Given the description of an element on the screen output the (x, y) to click on. 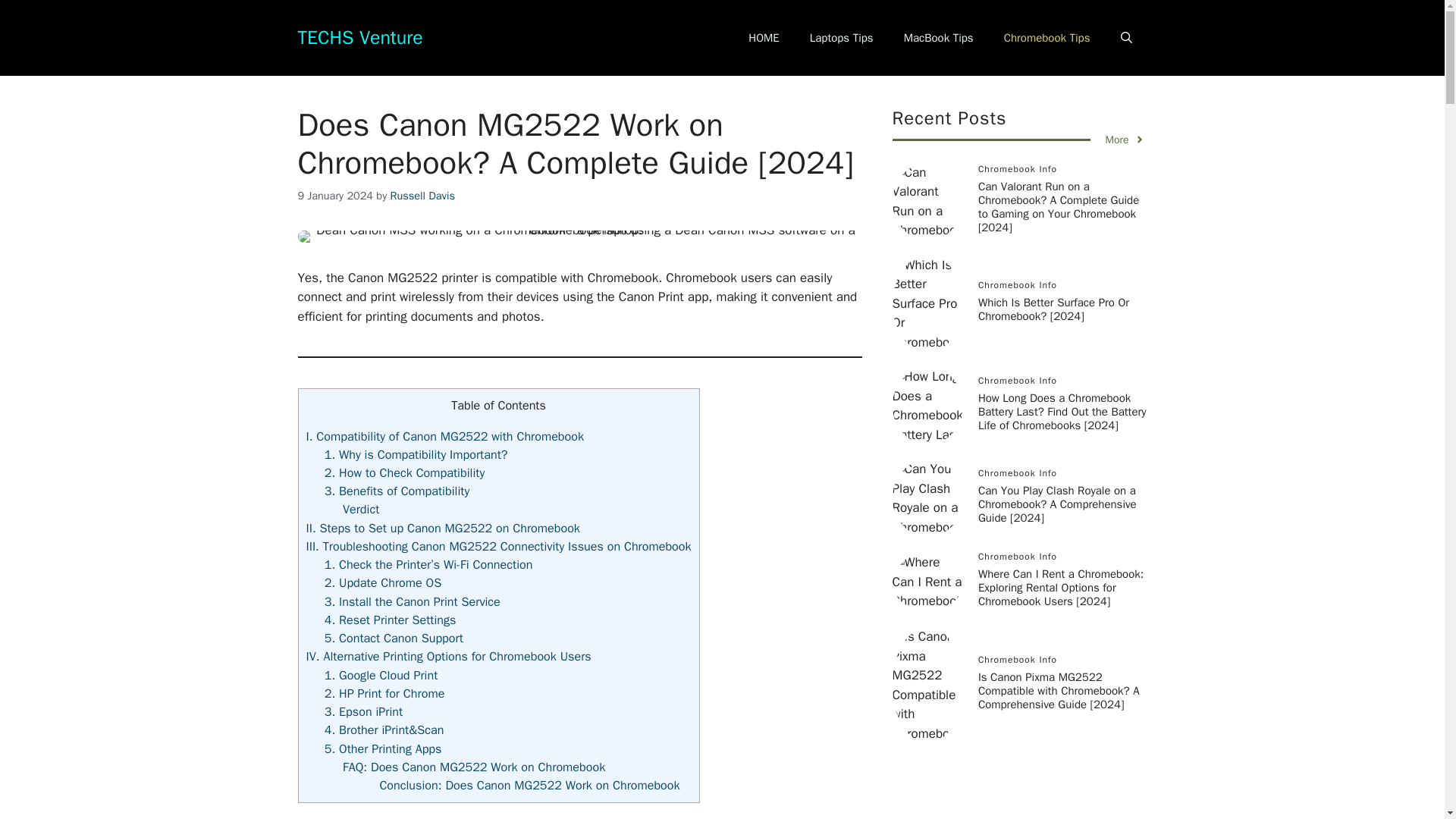
1. Why is Compatibility Important? (416, 454)
5. Contact Canon Support (393, 637)
Laptops Tips (841, 37)
1. Google Cloud Print (381, 675)
IV. Alternative Printing Options for Chromebook Users (448, 656)
3. Epson iPrint (363, 711)
3. Install the Canon Print Service (412, 601)
TECHS Venture (359, 37)
4. Reset Printer Settings (390, 619)
2. How to Check Compatibility (404, 472)
2. Update Chrome OS (382, 582)
3. Benefits of Compatibility (396, 490)
II. Steps to Set up Canon MG2522 on Chromebook (442, 528)
Conclusion: Does Canon MG2522 Work on Chromebook (528, 785)
I. Compatibility of Canon MG2522 with Chromebook (445, 436)
